Given the description of an element on the screen output the (x, y) to click on. 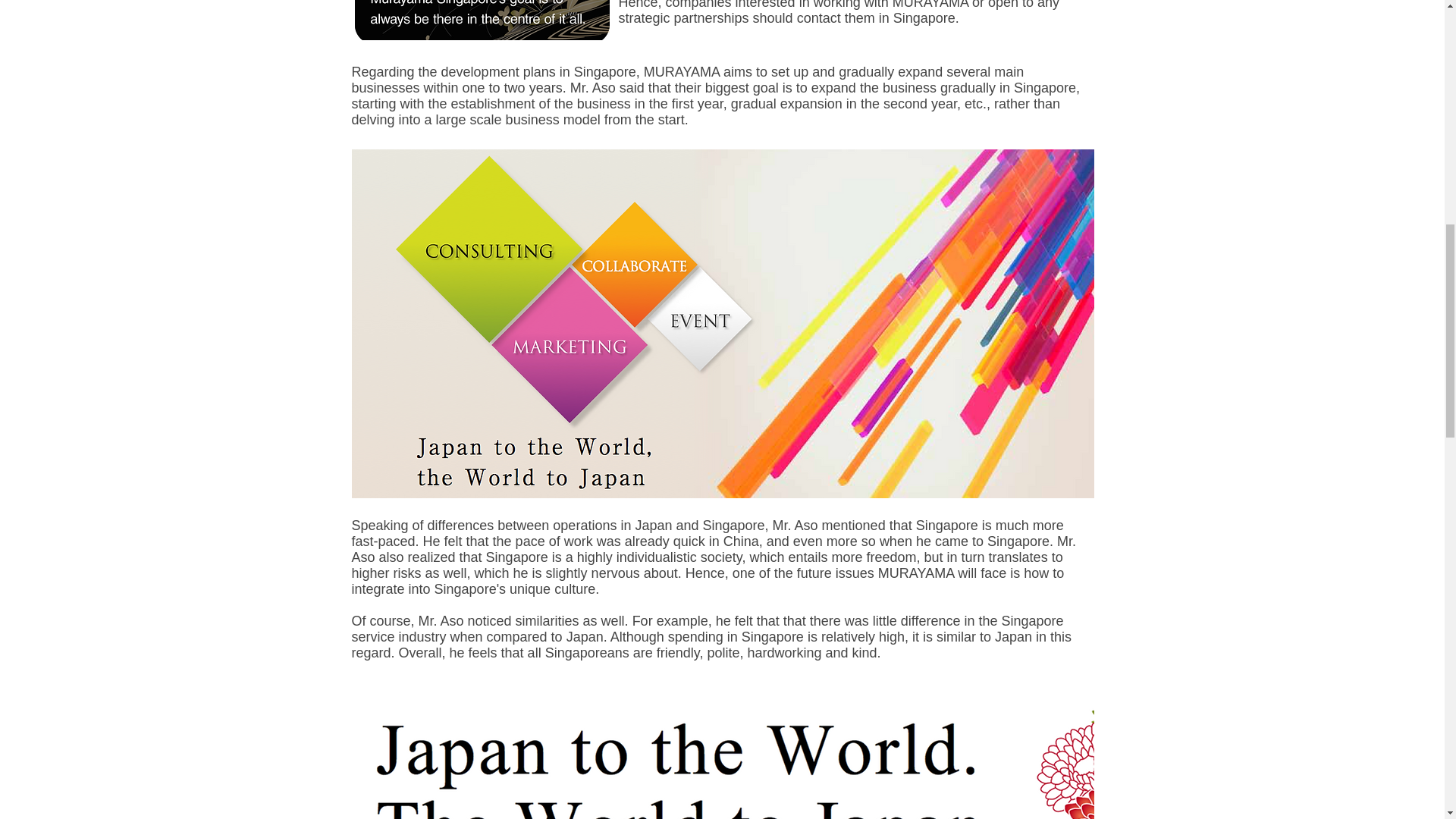
Untitled4.png (482, 20)
Untitled.png (723, 752)
